Given the description of an element on the screen output the (x, y) to click on. 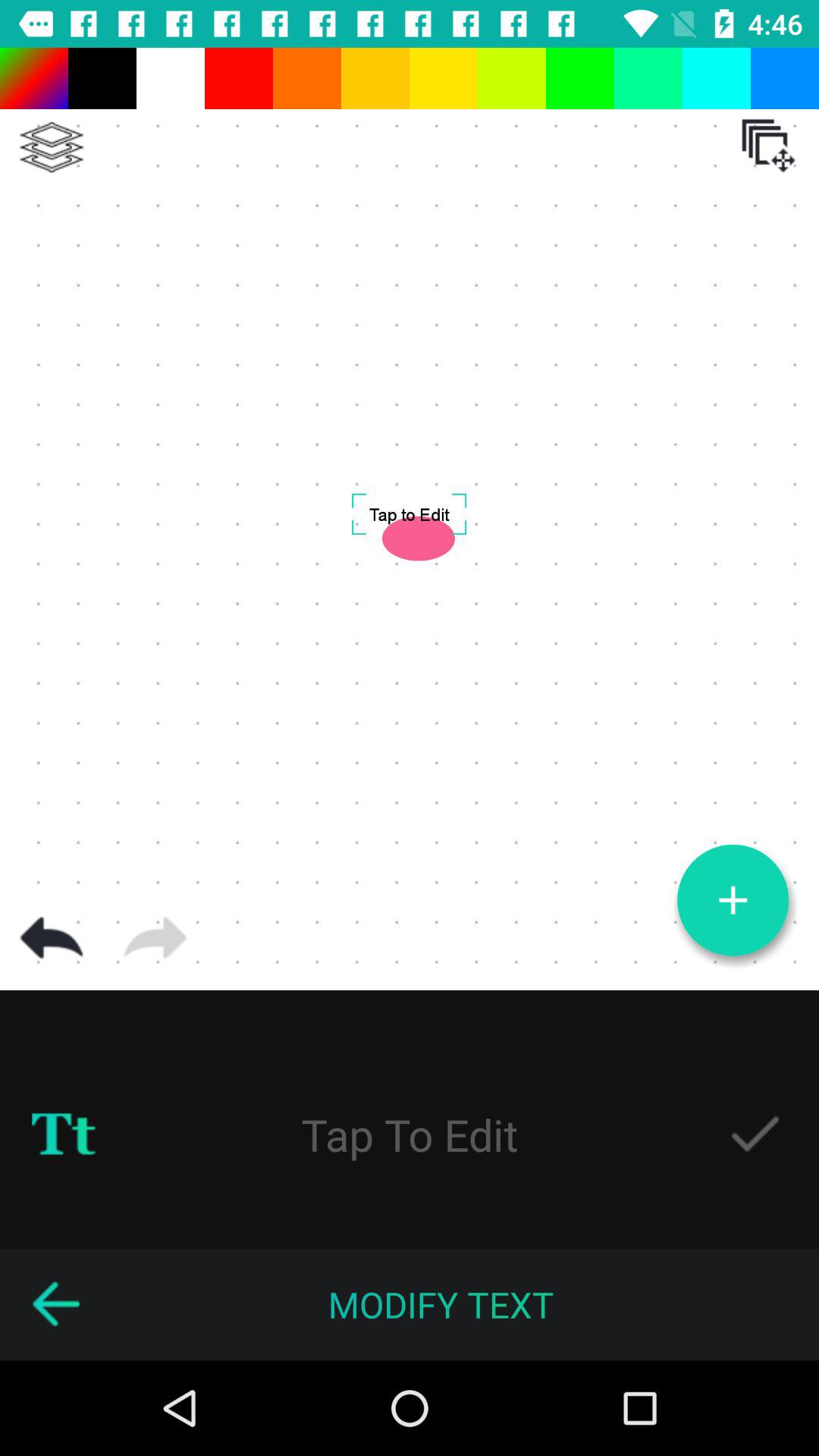
click on back arrow left to modify text (55, 1304)
click on the tap to edit which is on the right tt (409, 1134)
click on right button on bottom of the page (755, 1134)
click on the right corner plus icon at bottom (733, 900)
click on the icon which is below blue colour box (768, 145)
click on right arrow (155, 939)
